Given the description of an element on the screen output the (x, y) to click on. 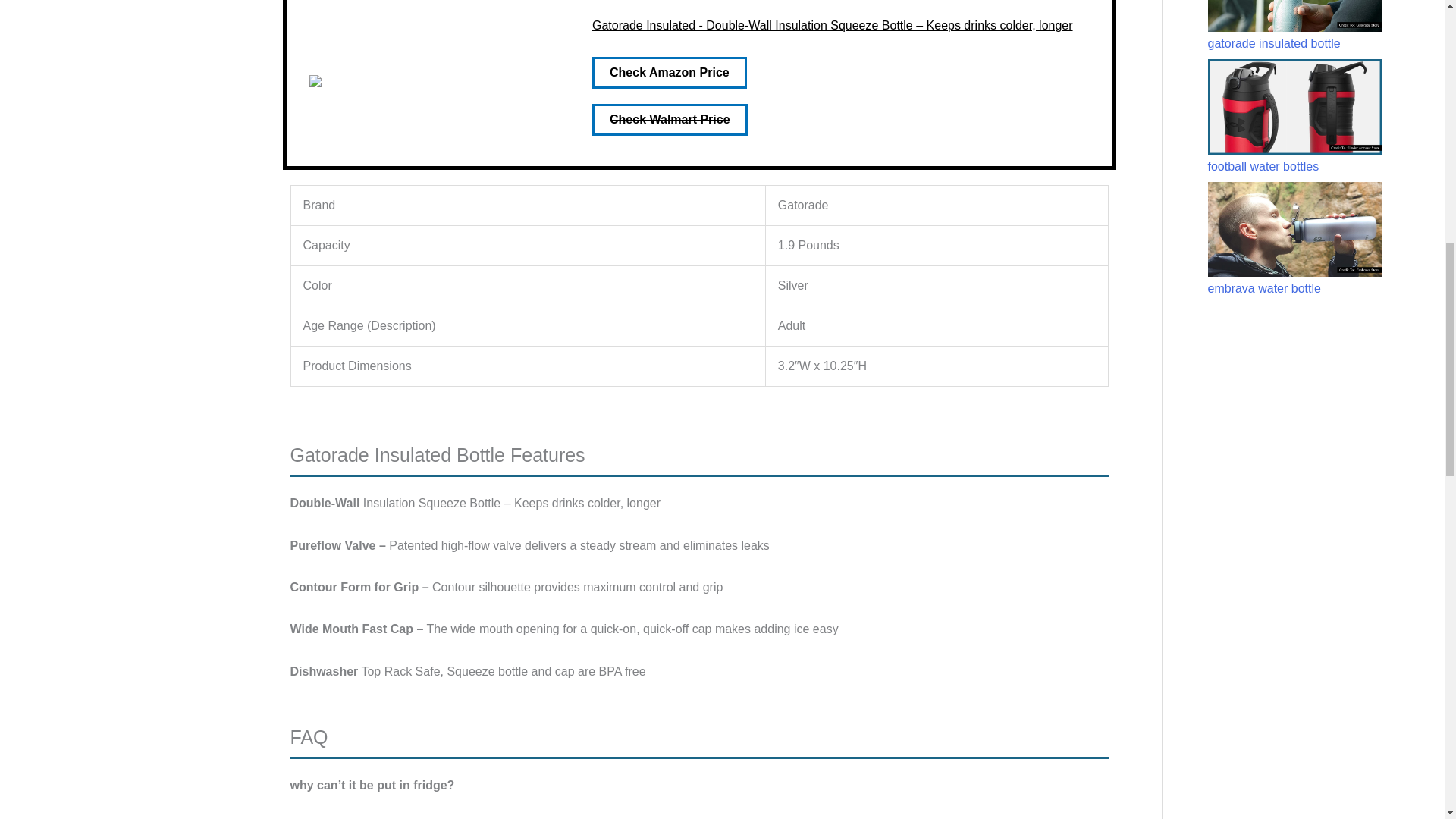
Check Amazon Price (669, 72)
Check Walmart Price (670, 119)
